Given the description of an element on the screen output the (x, y) to click on. 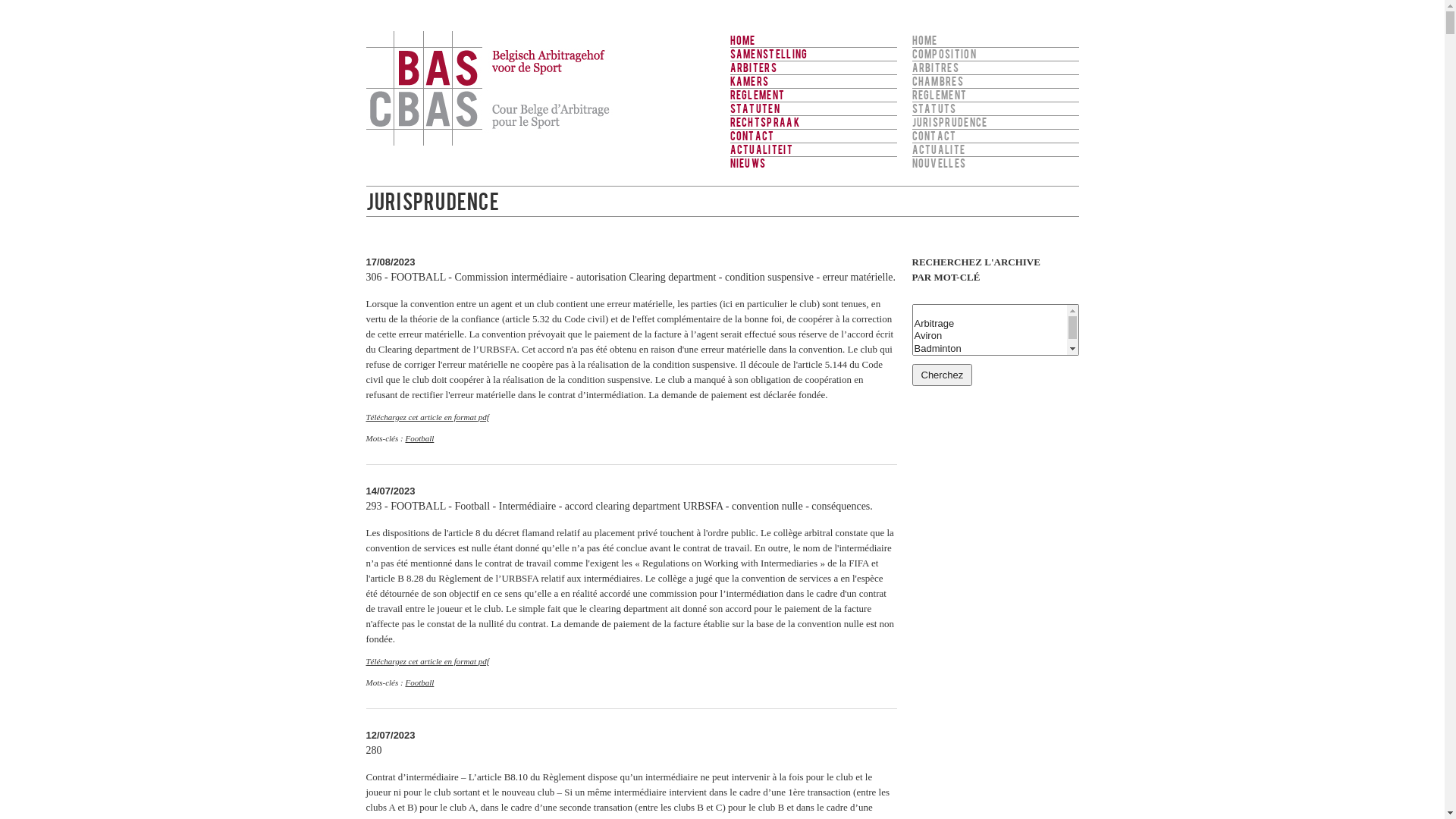
Samenstelling Element type: text (812, 53)
Actualiteit Element type: text (812, 149)
Reglement Element type: text (994, 94)
Nouvelles Element type: text (994, 162)
Actualite Element type: text (994, 149)
Reglement Element type: text (812, 94)
Football Element type: text (418, 682)
Rechtspraak Element type: text (812, 121)
Football Element type: text (418, 437)
Chambres Element type: text (994, 80)
Home Element type: text (812, 40)
Nieuws Element type: text (812, 162)
Arbitres Element type: text (994, 67)
Contact Element type: text (812, 135)
Statuten Element type: text (812, 108)
Contact Element type: text (994, 135)
Kamers Element type: text (812, 80)
Composition Element type: text (994, 53)
Statuts Element type: text (994, 108)
Cherchez Element type: text (941, 374)
Home Element type: text (994, 40)
Arbiters Element type: text (812, 67)
Jurisprudence Element type: text (994, 121)
